Given the description of an element on the screen output the (x, y) to click on. 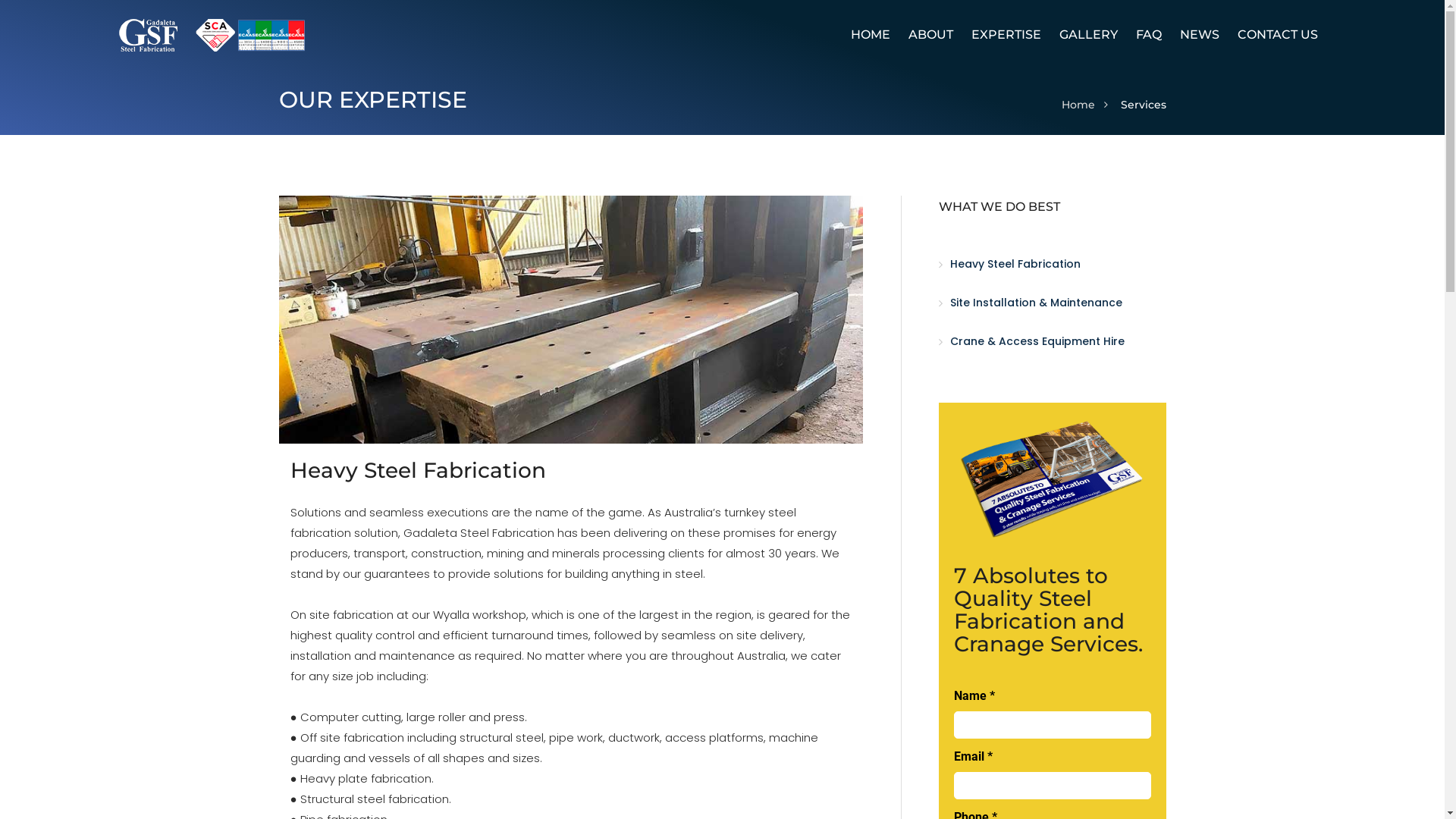
EXPERTISE Element type: text (1006, 34)
Site Installation & Maintenance Element type: text (1030, 302)
Home Element type: text (1078, 104)
NEWS Element type: text (1199, 34)
Heavy Steel Fabrication Element type: text (1009, 263)
FAQ Element type: text (1148, 34)
ABOUT Element type: text (930, 34)
CONTACT US Element type: text (1277, 34)
GALLERY Element type: text (1088, 34)
HOME Element type: text (870, 34)
Crane & Access Equipment Hire Element type: text (1031, 340)
